Given the description of an element on the screen output the (x, y) to click on. 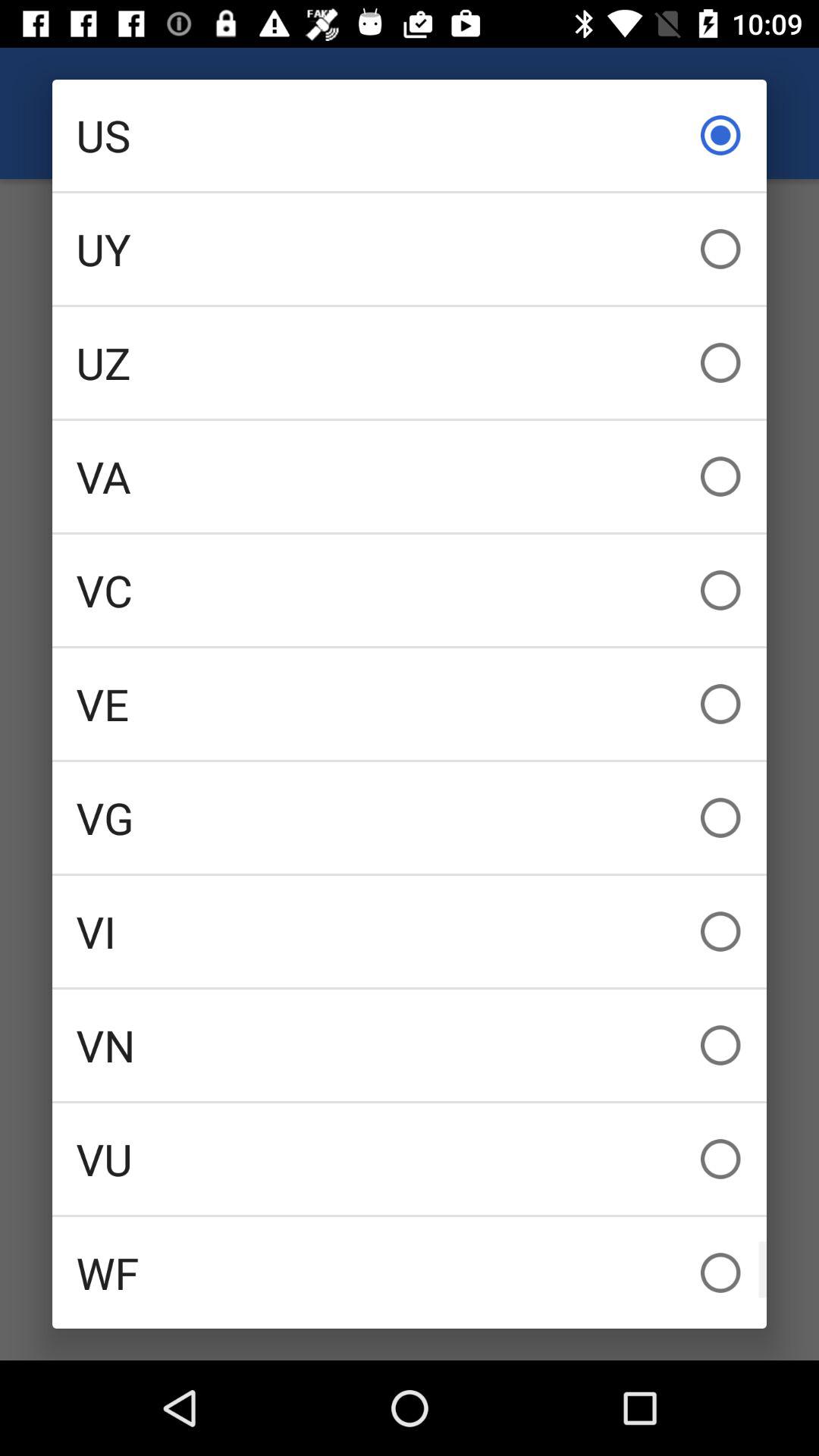
press icon above vn icon (409, 931)
